Given the description of an element on the screen output the (x, y) to click on. 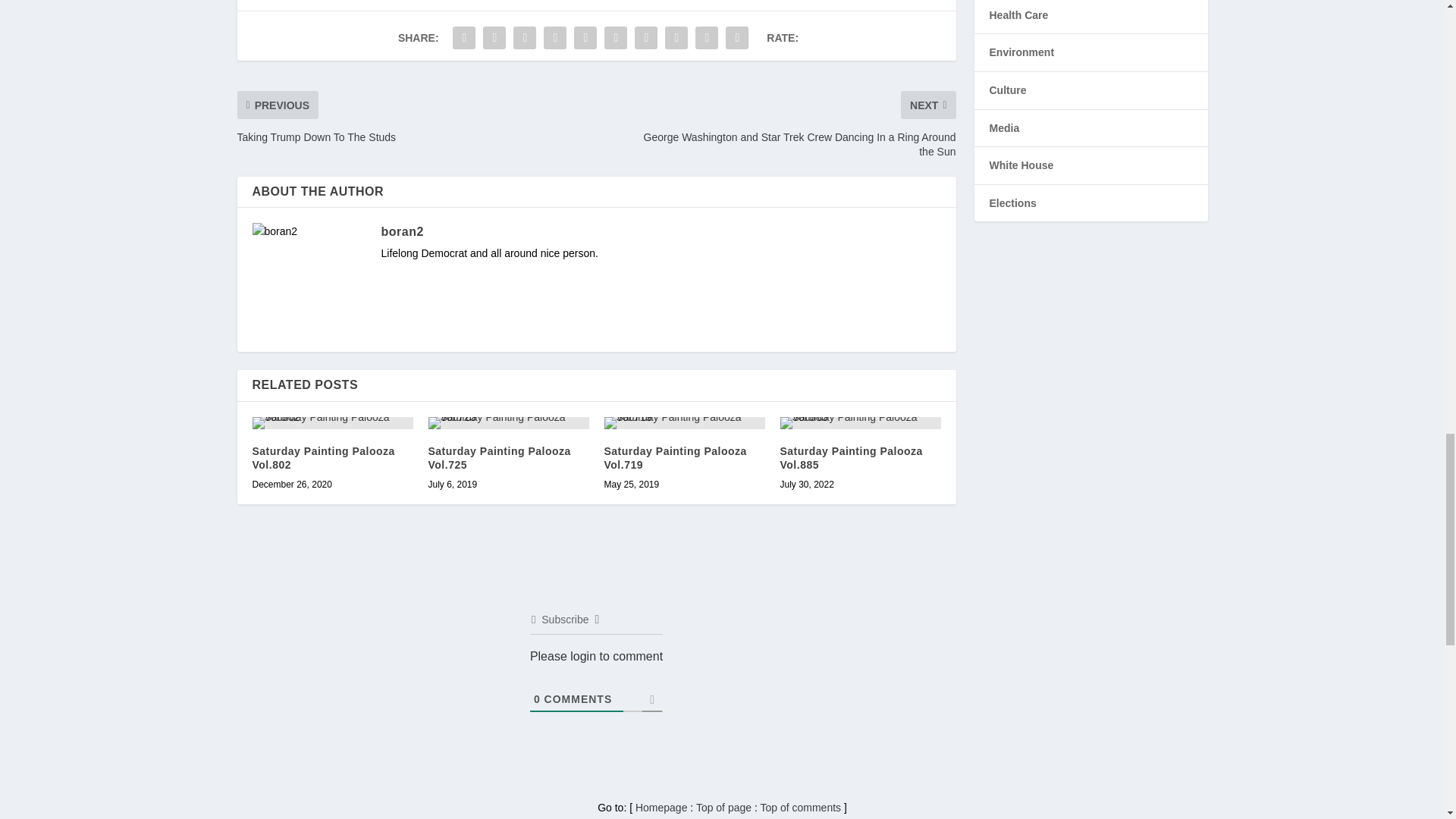
Share "Saturday Painting Palooza Vol.960" via Twitter (494, 37)
Share "Saturday Painting Palooza Vol.960" via Tumblr (555, 37)
Share "Saturday Painting Palooza Vol.960" via Buffer (645, 37)
Share "Saturday Painting Palooza Vol.960" via Stumbleupon (676, 37)
boran2 (401, 231)
Share "Saturday Painting Palooza Vol.960" via LinkedIn (614, 37)
Share "Saturday Painting Palooza Vol.960" via Facebook (463, 37)
Share "Saturday Painting Palooza Vol.960" via Email (706, 37)
Share "Saturday Painting Palooza Vol.960" via Pinterest (584, 37)
